Given the description of an element on the screen output the (x, y) to click on. 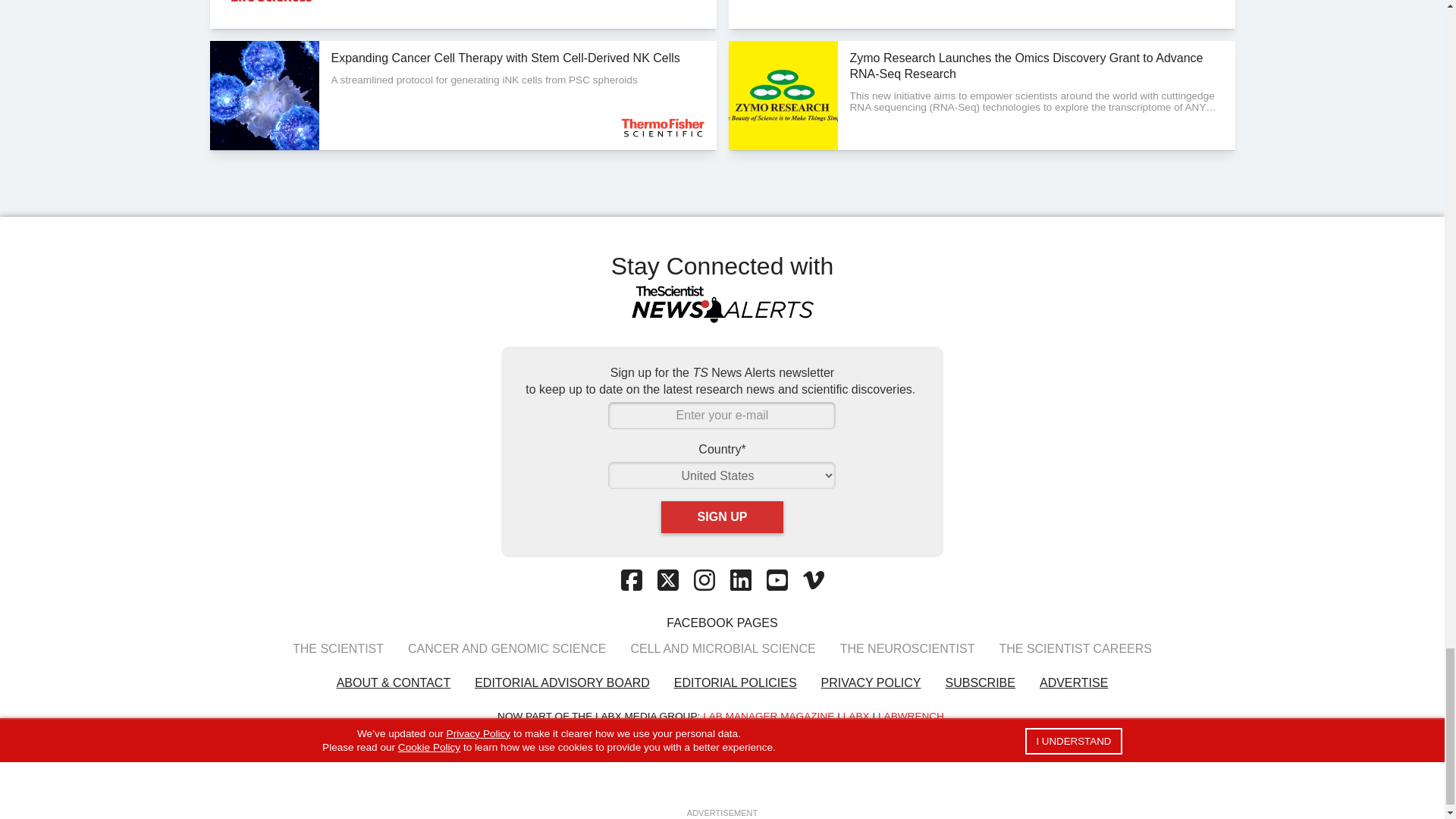
Sign Up (722, 517)
